Given the description of an element on the screen output the (x, y) to click on. 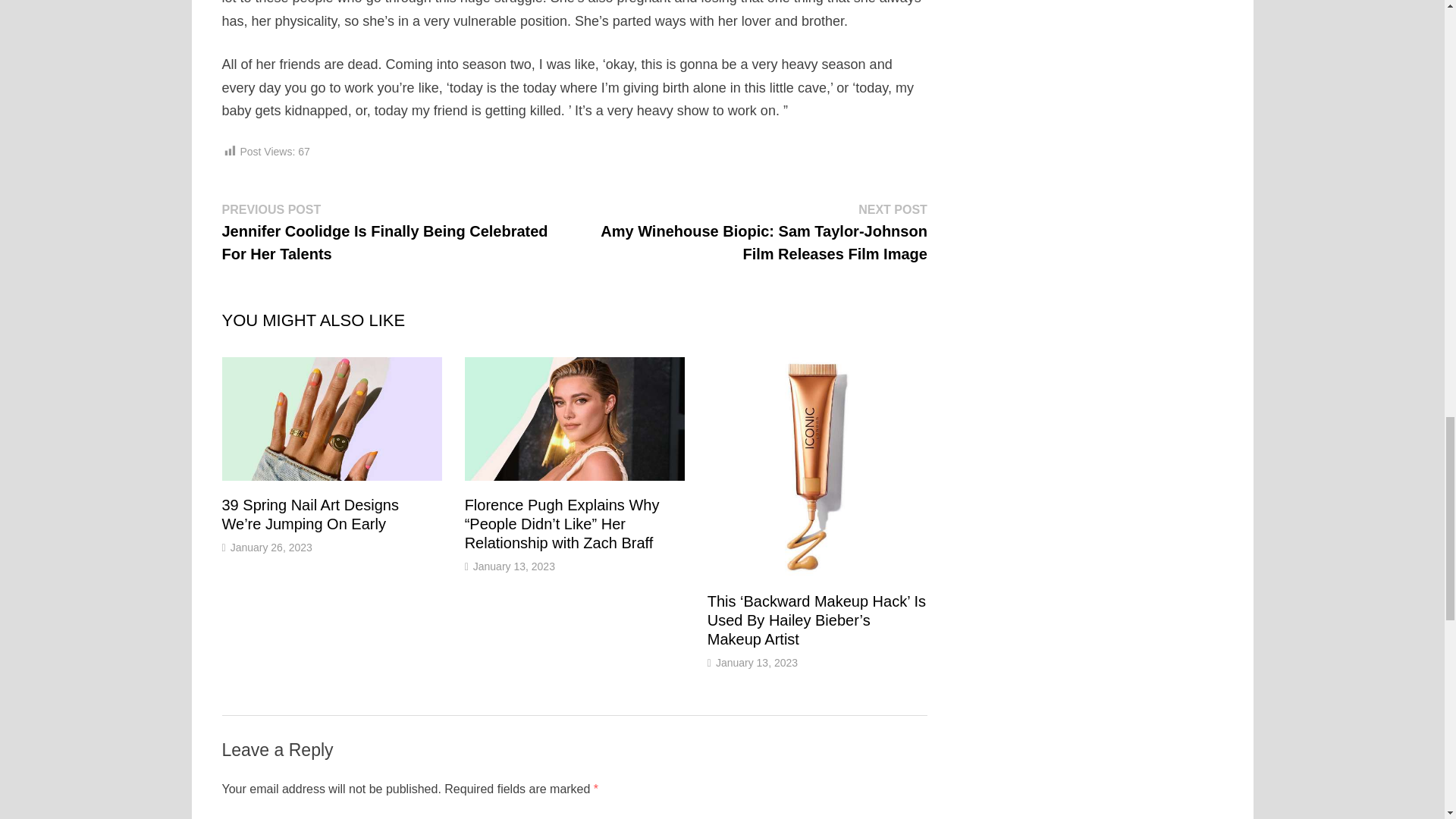
January 26, 2023 (271, 547)
January 13, 2023 (756, 662)
January 13, 2023 (513, 566)
